Given the description of an element on the screen output the (x, y) to click on. 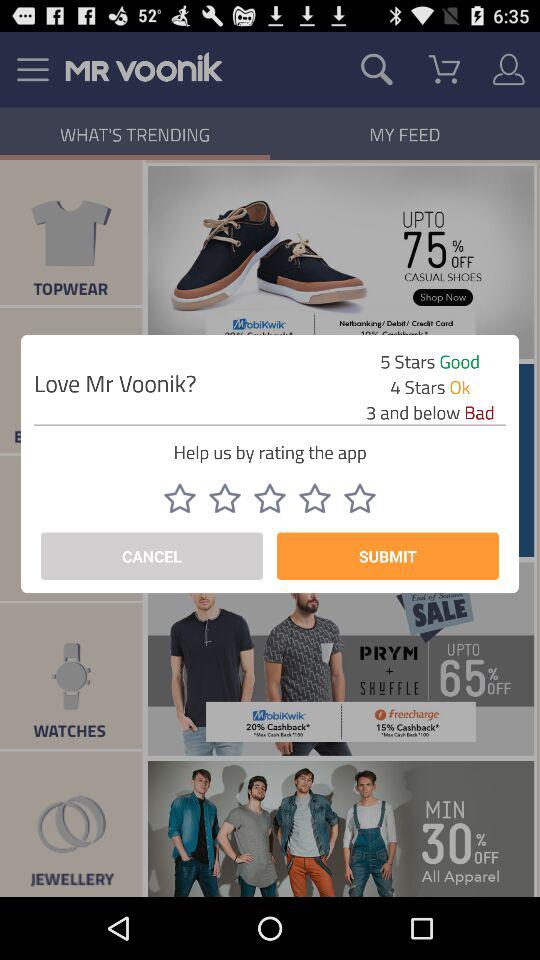
press item below help us by icon (269, 498)
